Given the description of an element on the screen output the (x, y) to click on. 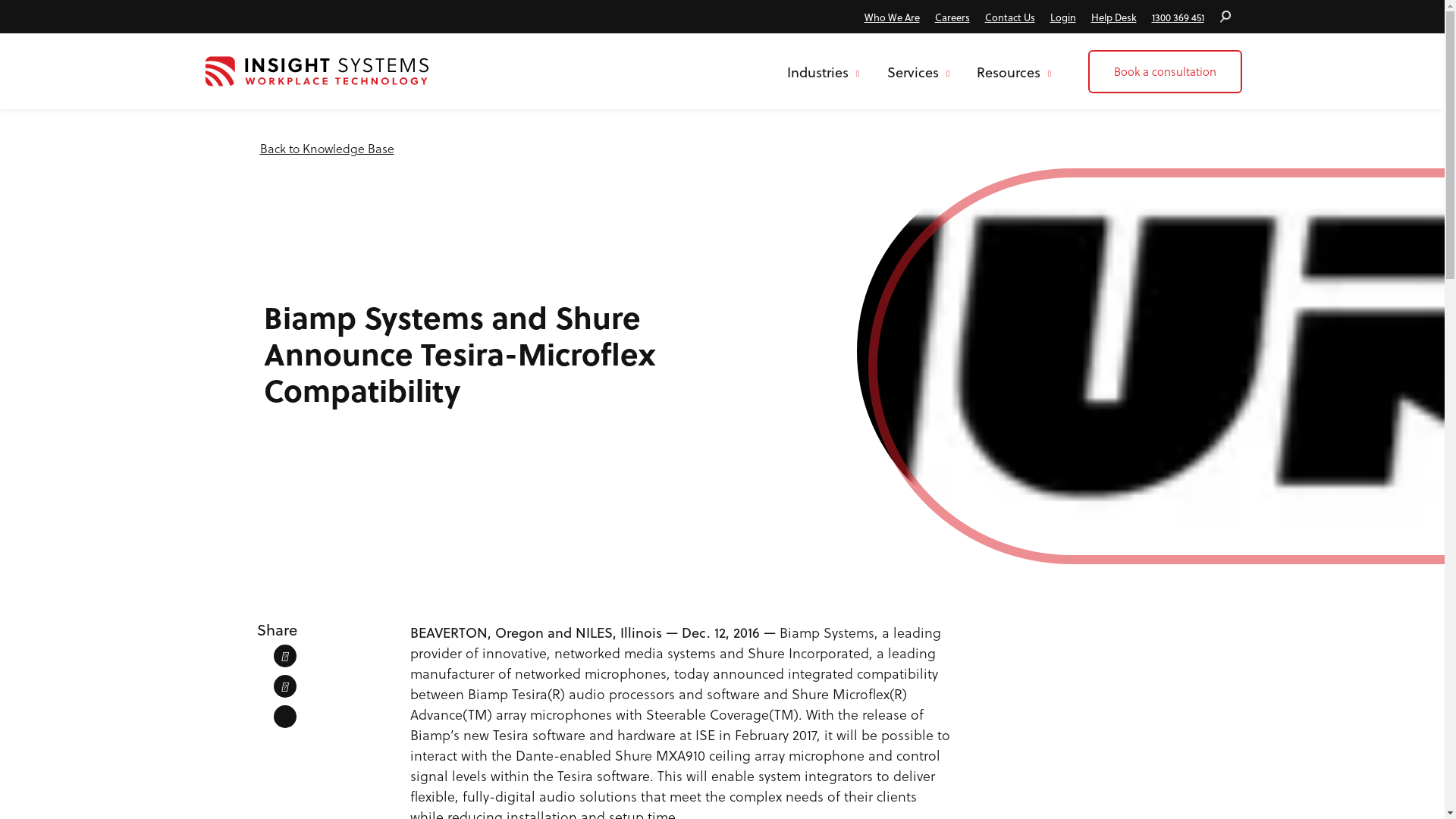
Login Element type: text (1062, 16)
Industries Element type: text (826, 70)
Help Desk Element type: text (1112, 16)
Book a consultation Element type: text (1164, 71)
Contact Us Element type: text (1009, 16)
Scroll down Element type: text (721, 587)
Back to Knowledge Base Element type: text (326, 148)
Careers Element type: text (951, 16)
Who We Are Element type: text (891, 16)
Resources Element type: text (1013, 70)
Services Element type: text (918, 70)
1300 369 451 Element type: text (1177, 16)
